Given the description of an element on the screen output the (x, y) to click on. 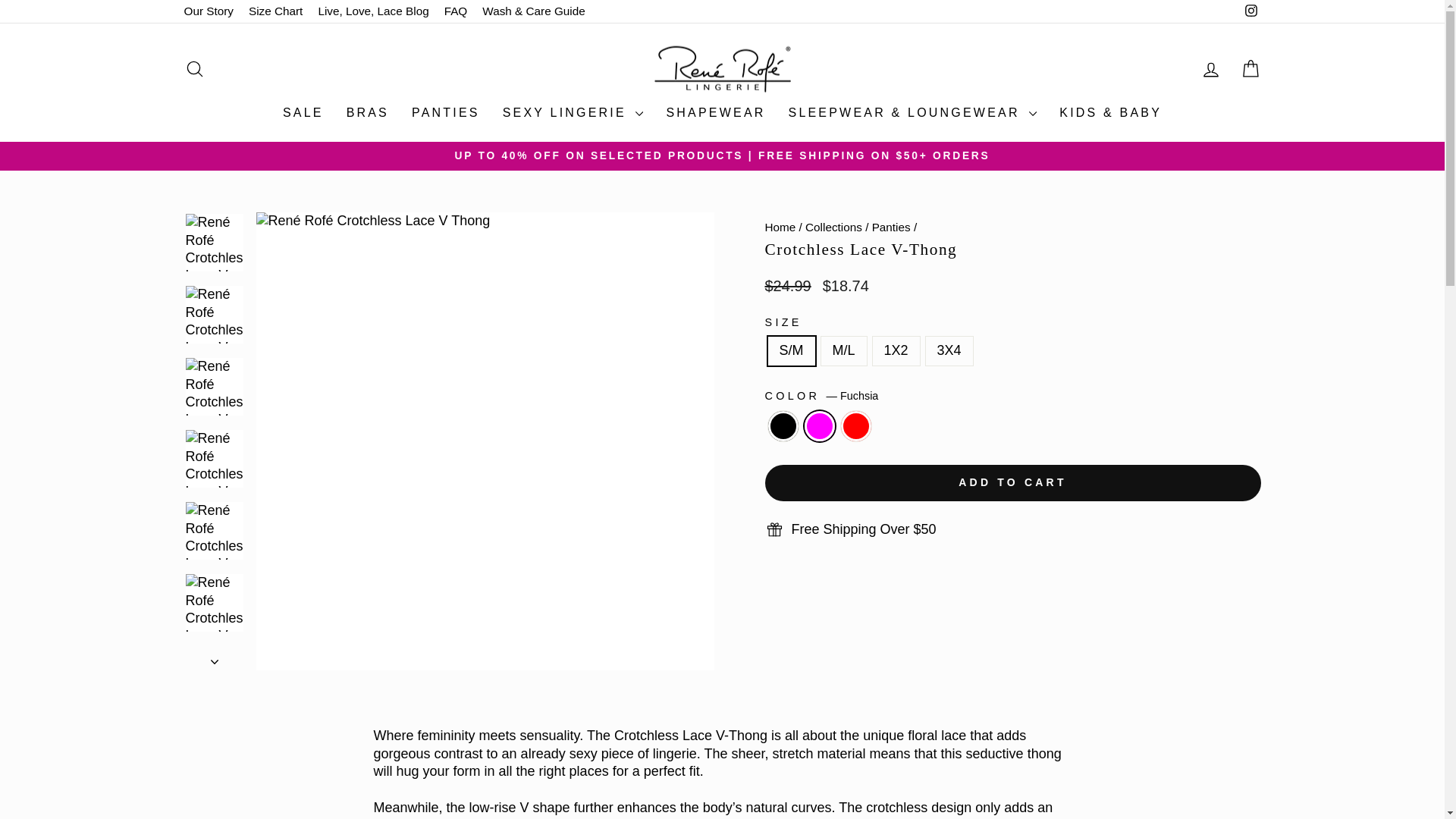
ACCOUNT (1210, 69)
Back to the frontpage (779, 226)
instagram (1250, 10)
ICON-SEARCH (194, 68)
